Given the description of an element on the screen output the (x, y) to click on. 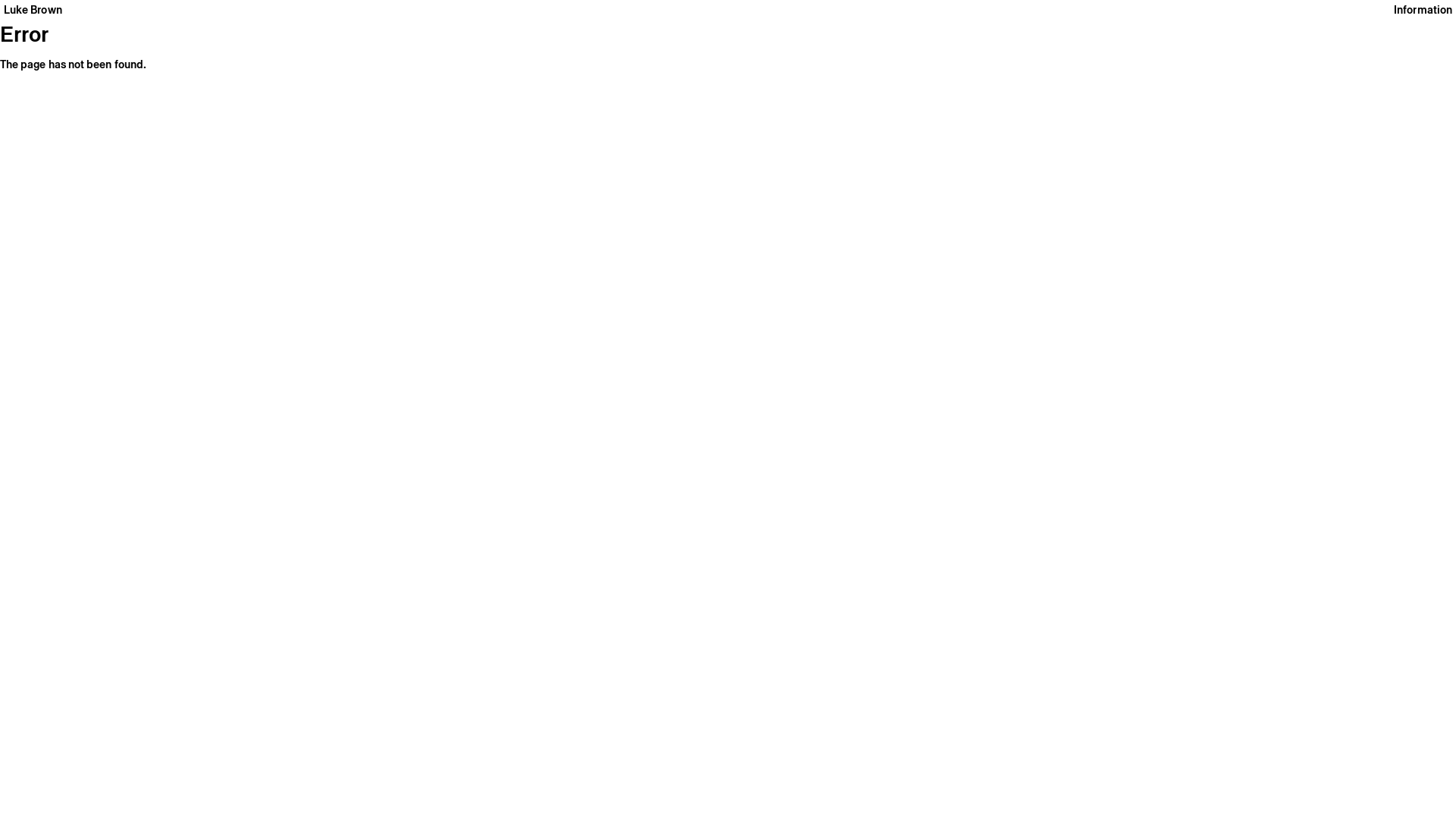
Luke Brown Element type: text (32, 9)
Information Element type: text (1422, 9)
